Given the description of an element on the screen output the (x, y) to click on. 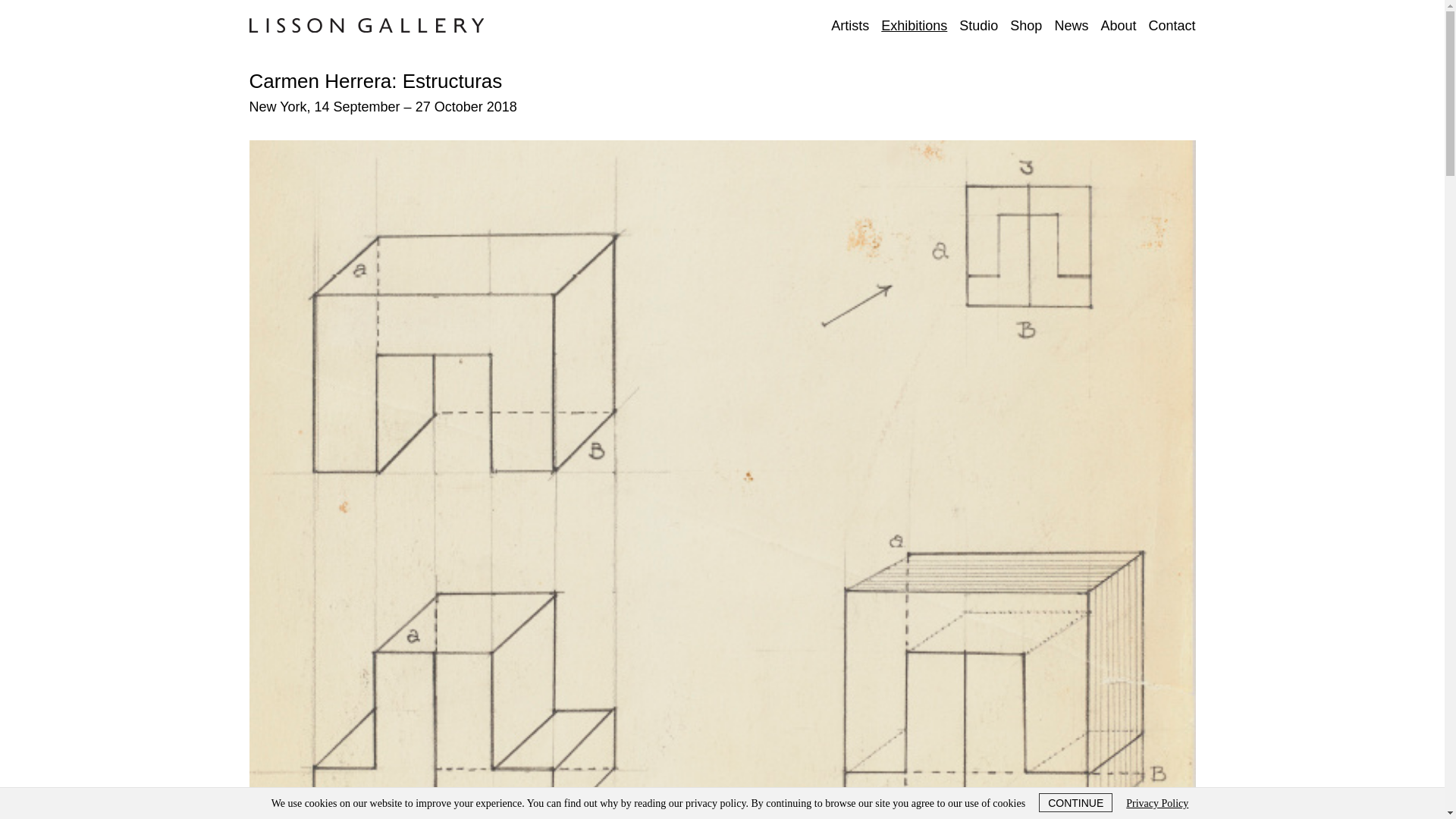
Artists (850, 25)
Exhibitions (913, 25)
